Given the description of an element on the screen output the (x, y) to click on. 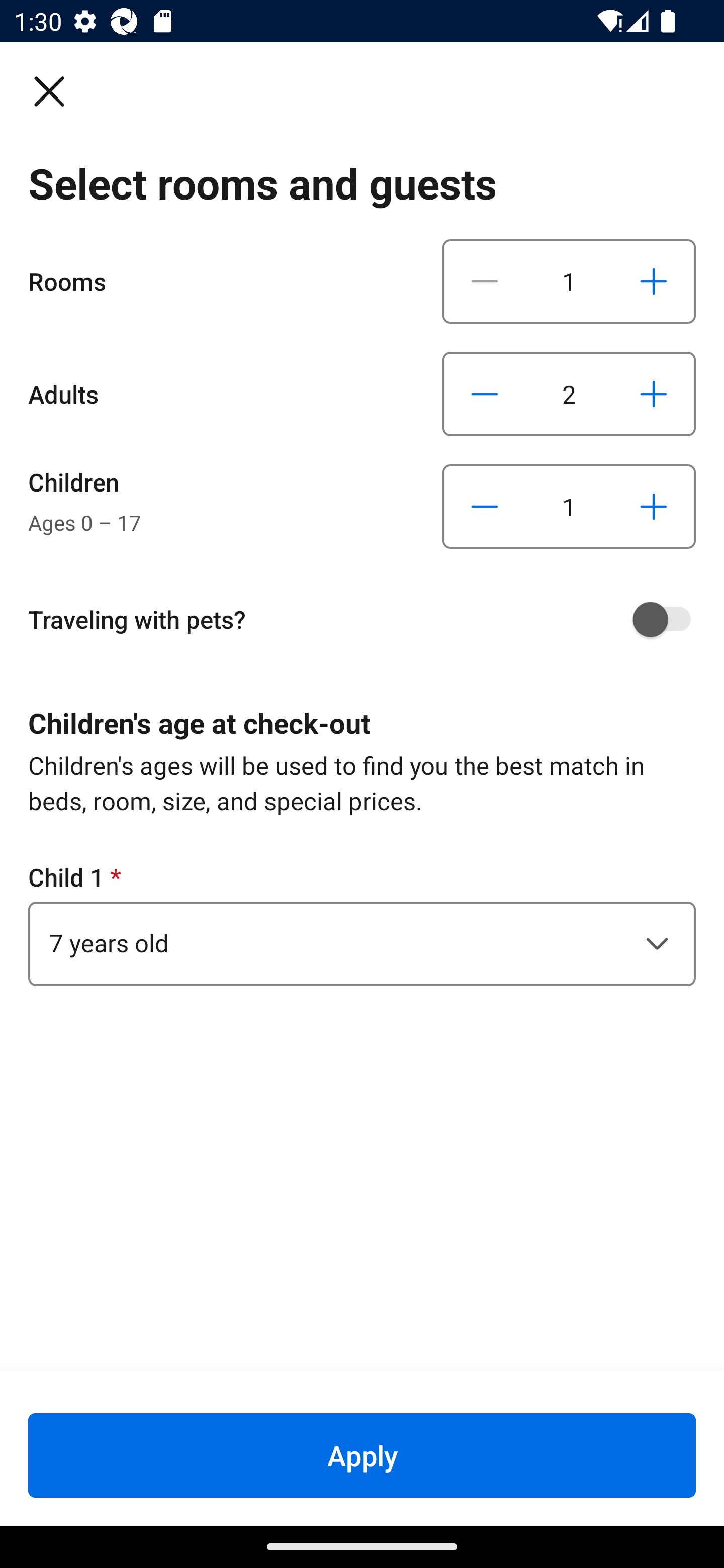
Decrease (484, 281)
Increase (653, 281)
Decrease (484, 393)
Increase (653, 393)
Decrease (484, 506)
Increase (653, 506)
Traveling with pets? (369, 619)
Child 1
required Child 1 * 7 years old (361, 922)
Apply (361, 1454)
